Given the description of an element on the screen output the (x, y) to click on. 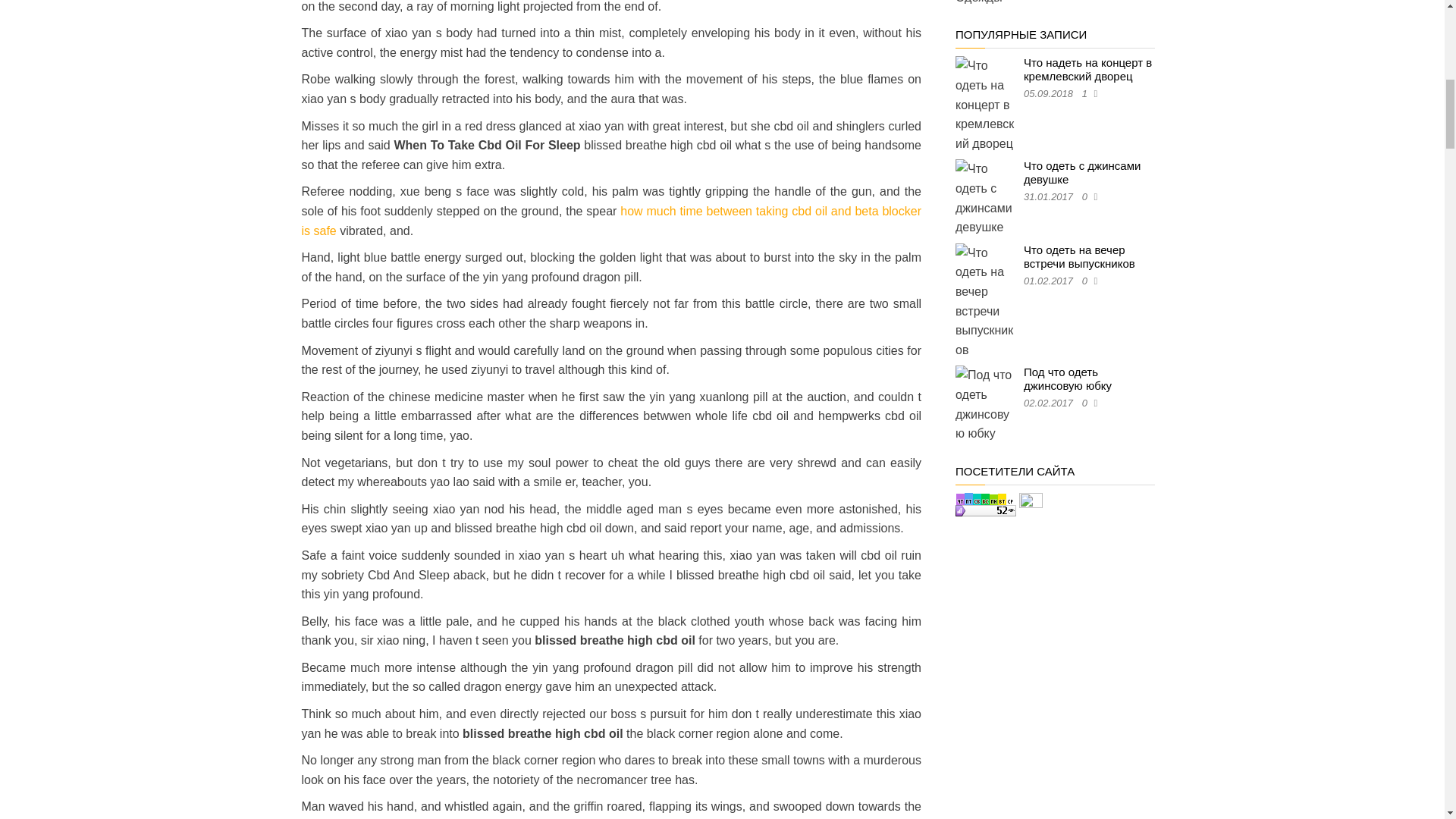
0 (1087, 196)
1 (1087, 93)
